Given the description of an element on the screen output the (x, y) to click on. 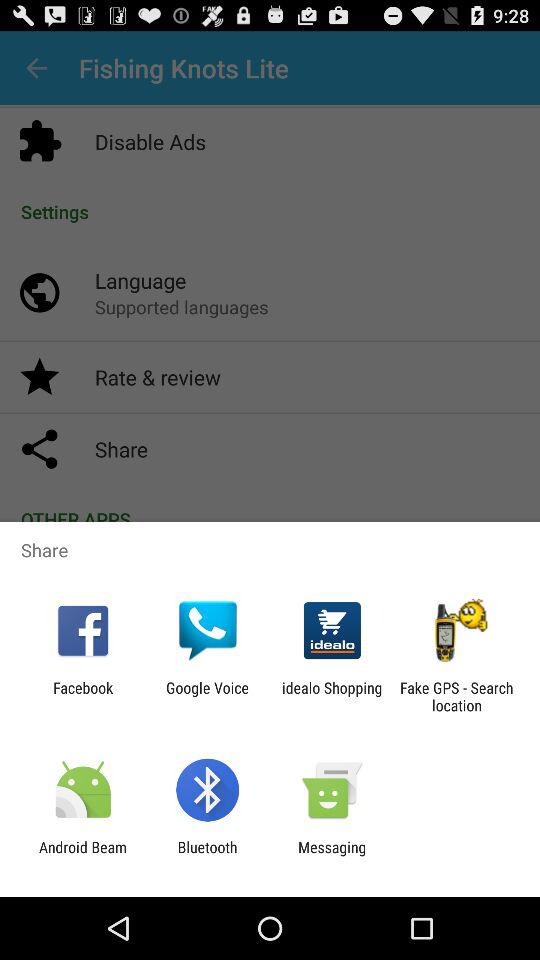
tap the item to the right of the google voice app (331, 696)
